Given the description of an element on the screen output the (x, y) to click on. 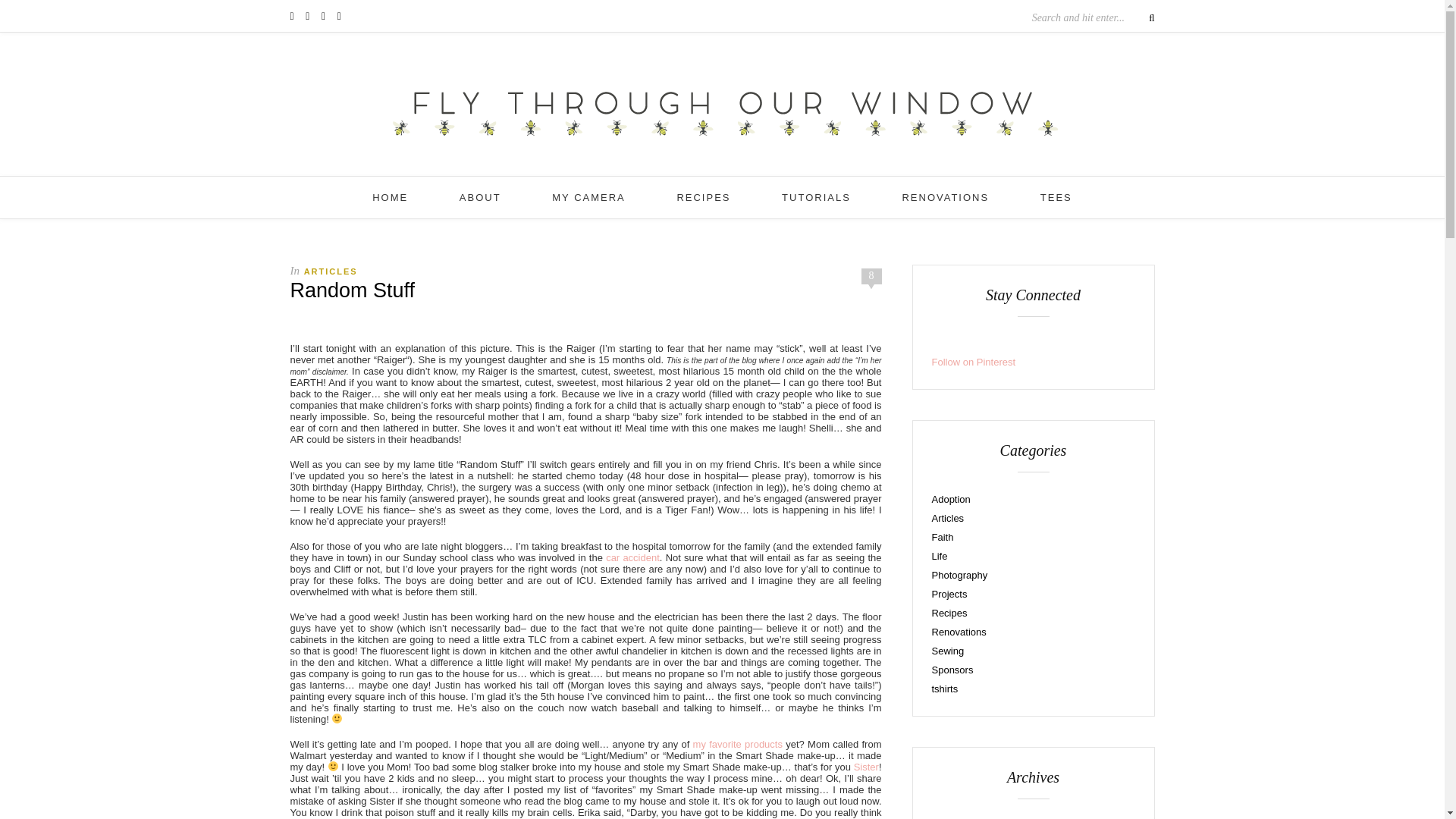
my favorite products (738, 744)
car accident (632, 557)
RECIPES (703, 197)
MY CAMERA (588, 197)
ARTICLES (331, 271)
Sister (866, 767)
RENOVATIONS (944, 197)
TUTORIALS (815, 197)
ABOUT (480, 197)
